Given the description of an element on the screen output the (x, y) to click on. 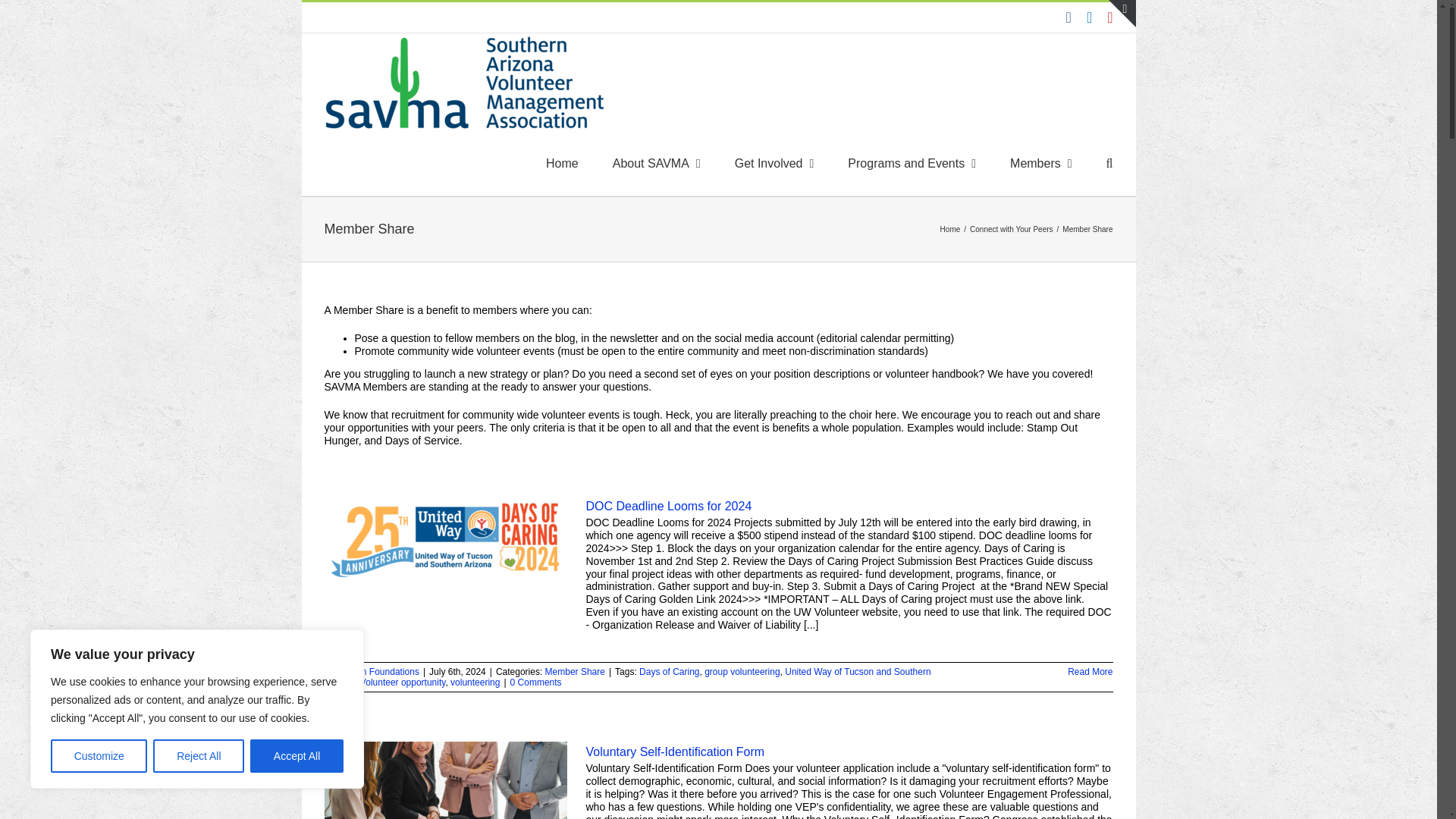
Facebook (1068, 17)
Search (1109, 163)
Accept All (296, 756)
Customize (98, 756)
Programs and Events (911, 163)
LinkedIn (1089, 17)
About SAVMA (656, 163)
YouTube (1109, 17)
Posts by Tucson Foundations (378, 671)
Home (562, 163)
Get Involved (774, 163)
Reject All (198, 756)
Members (1040, 163)
